Given the description of an element on the screen output the (x, y) to click on. 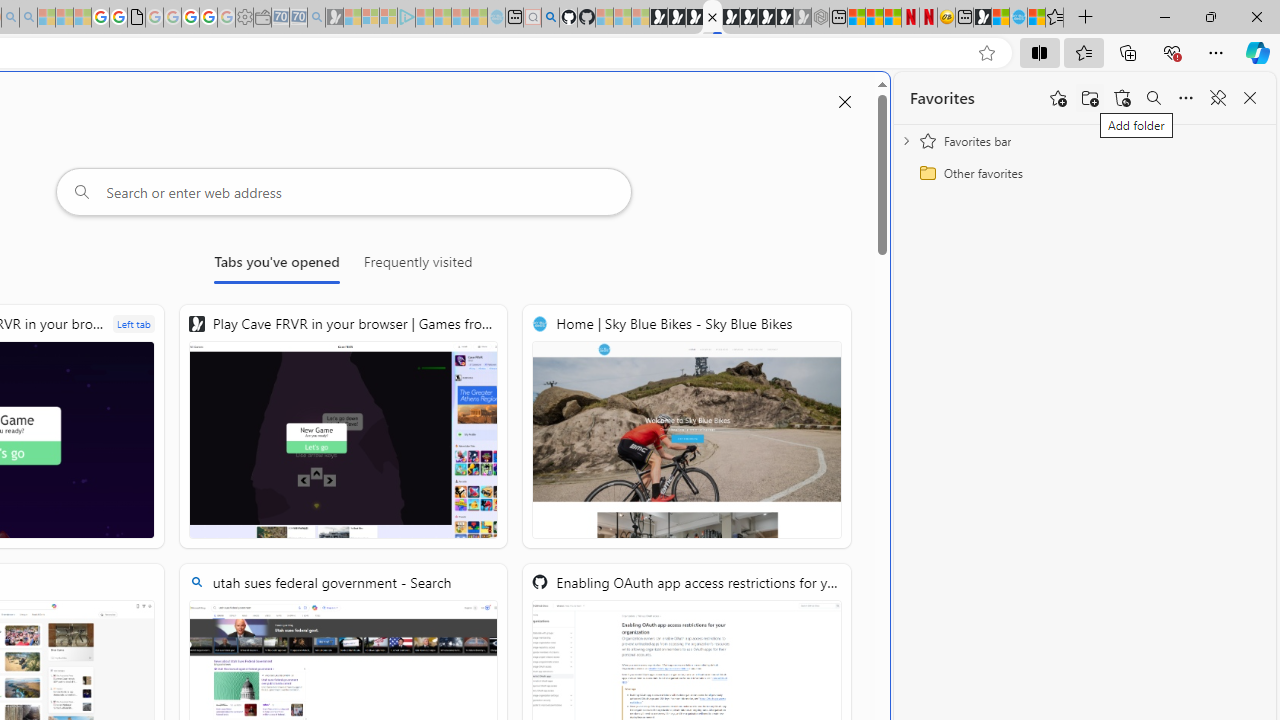
Frequently visited (418, 265)
Add folder (1089, 98)
